Given the description of an element on the screen output the (x, y) to click on. 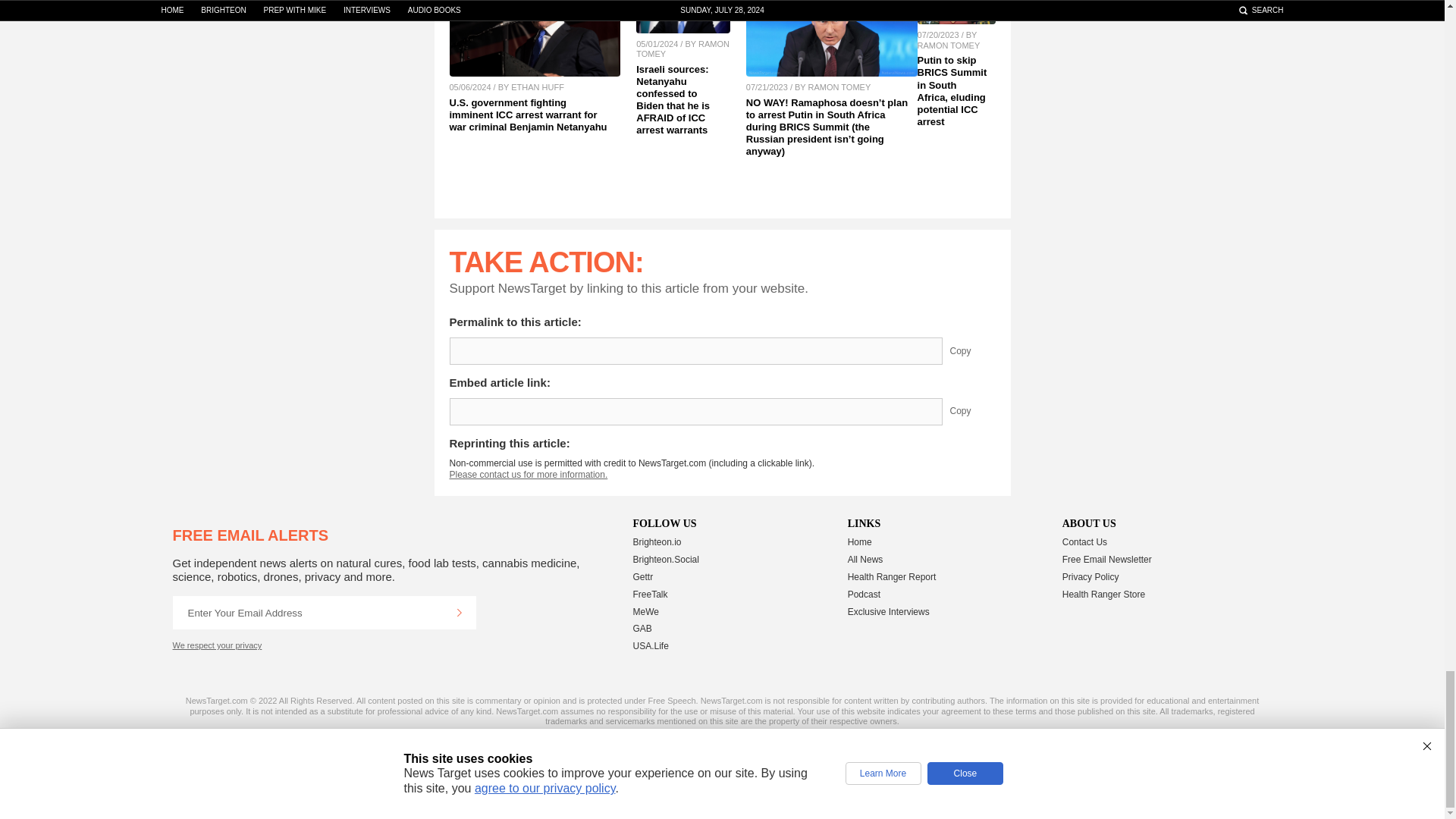
Continue (459, 612)
Copy Permalink (971, 350)
Copy Embed Link (971, 411)
